Given the description of an element on the screen output the (x, y) to click on. 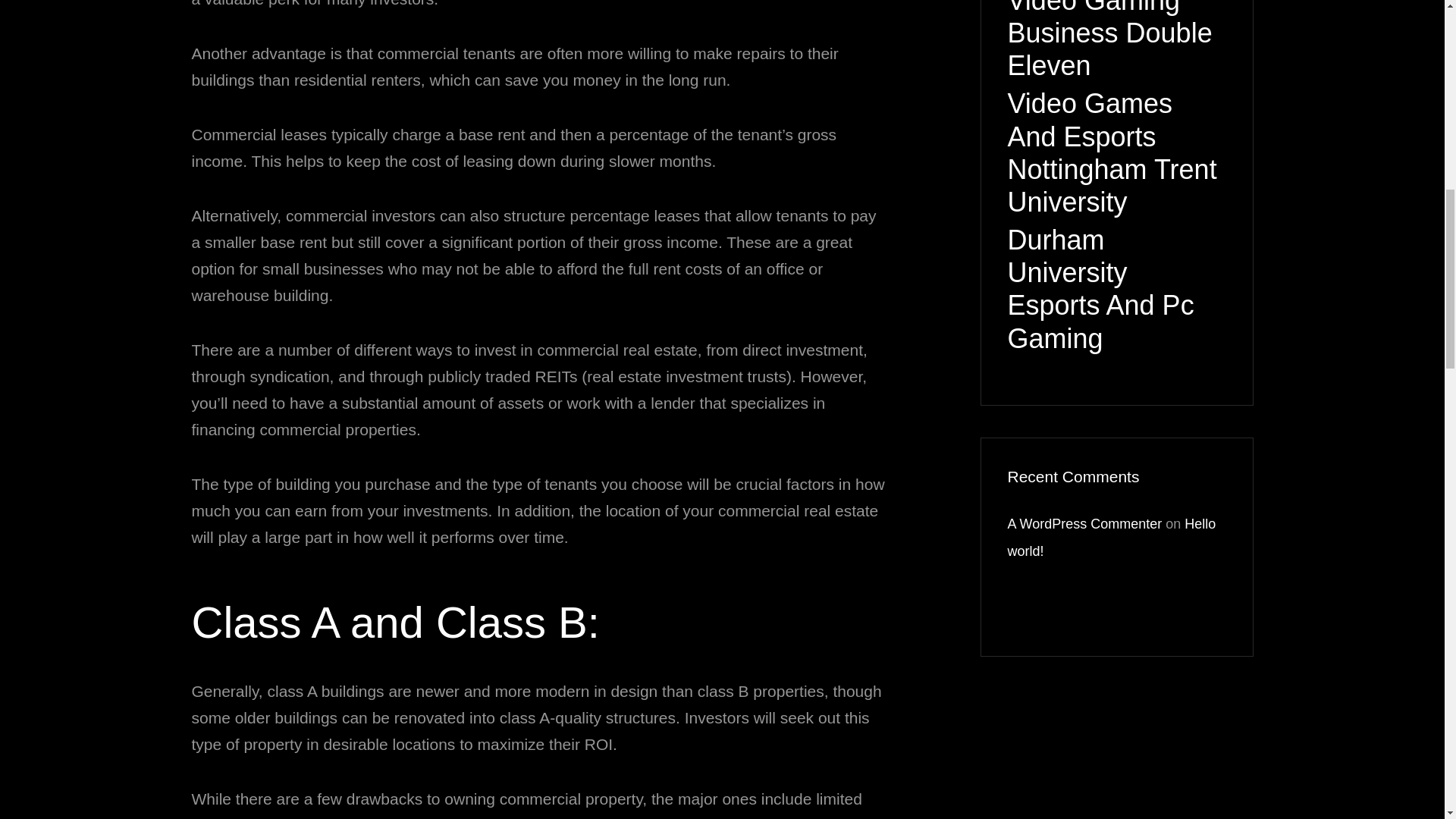
Hello world! (1111, 537)
Durham University Esports And Pc Gaming (1116, 288)
Video Games And Esports Nottingham Trent University (1116, 152)
A WordPress Commenter (1084, 523)
